Given the description of an element on the screen output the (x, y) to click on. 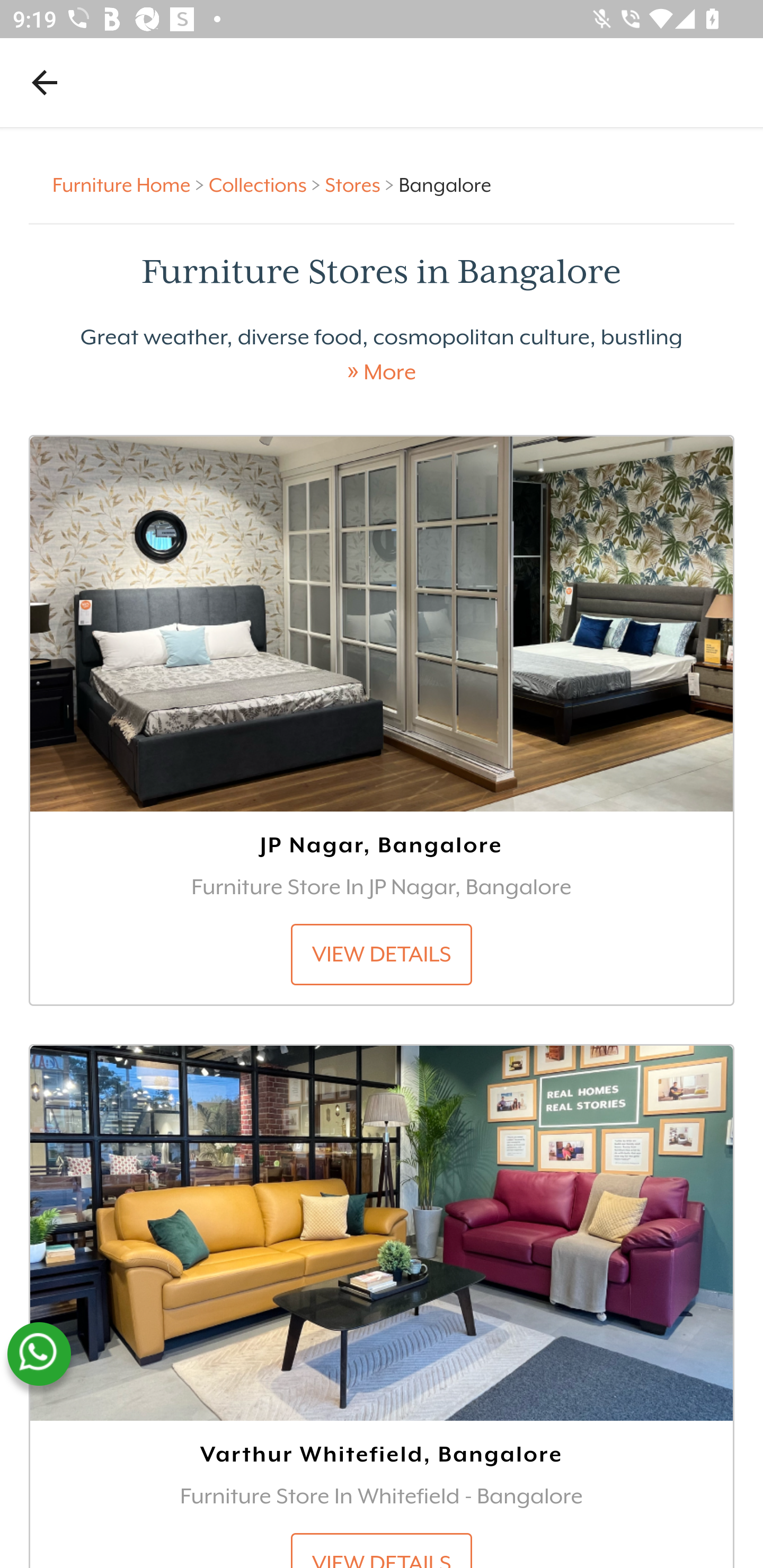
Navigate up (44, 82)
Furniture Home >  Furniture Home  >  (130, 184)
Collections >  Collections  >  (266, 184)
Stores >  Stores  >  (361, 184)
» More (381, 372)
VIEW DETAILS (381, 953)
whatsapp (38, 1353)
VIEW DETAILS (381, 1549)
